Given the description of an element on the screen output the (x, y) to click on. 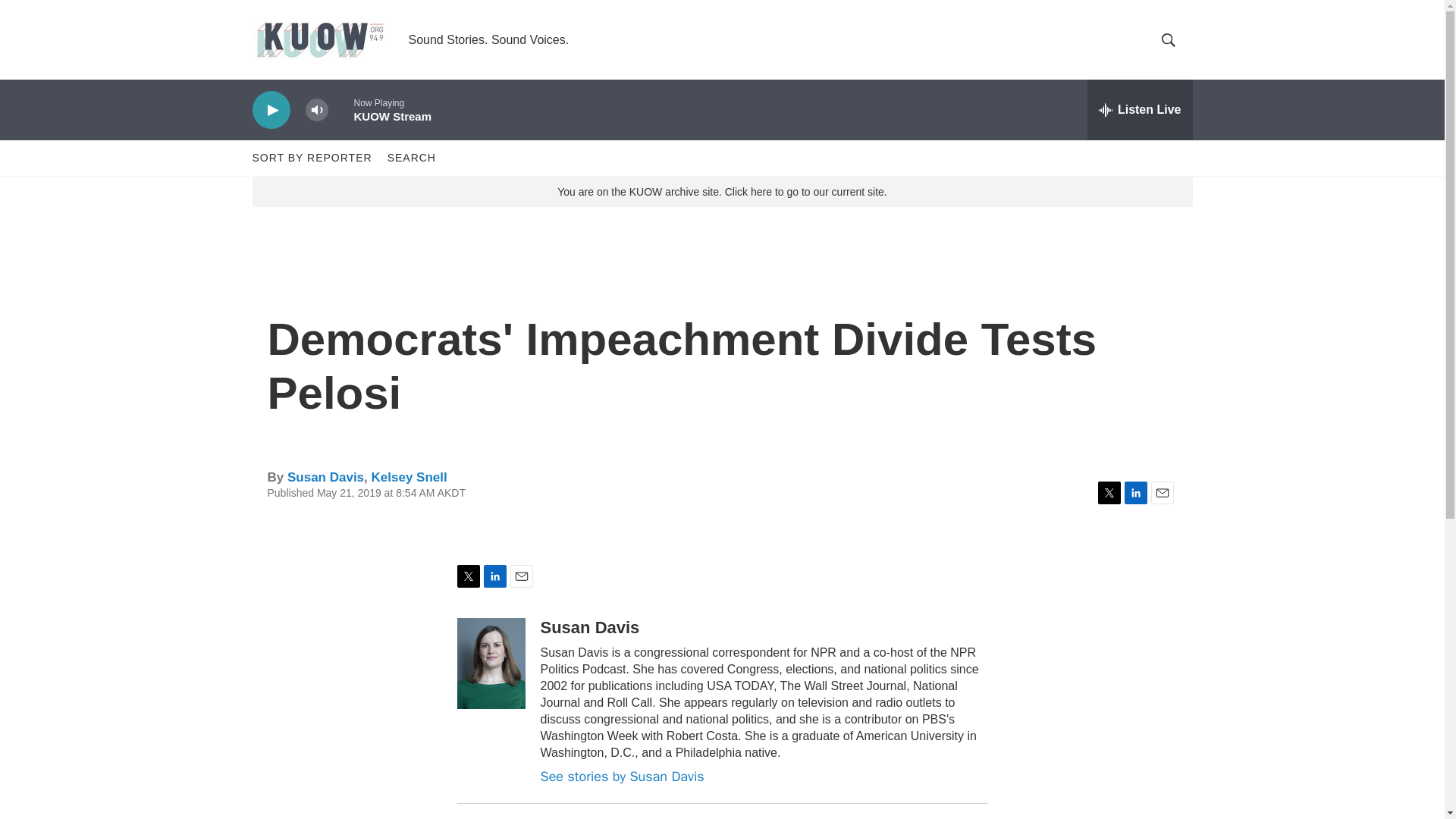
Listen Live (1139, 109)
LinkedIn (494, 576)
Email (520, 576)
Twitter (1109, 492)
Susan Davis (325, 477)
Twitter (468, 576)
See stories by Susan Davis (621, 776)
Show Search (1168, 39)
Susan Davis (589, 627)
